Given the description of an element on the screen output the (x, y) to click on. 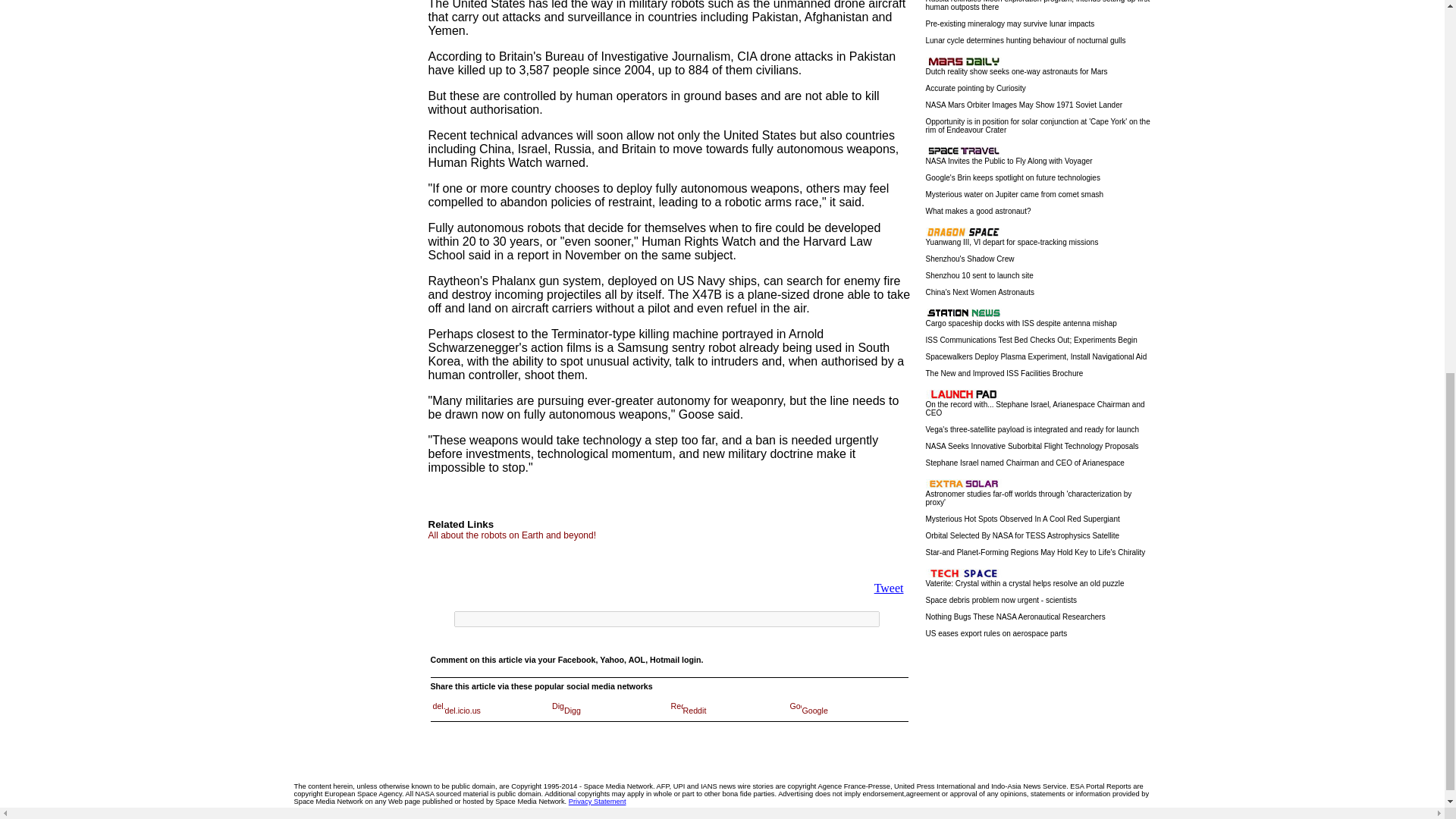
Google (808, 709)
Digg (565, 709)
Dutch reality show seeks one-way astronauts for Mars (1015, 75)
Pre-existing mineralogy may survive lunar impacts (1009, 27)
All about the robots on Earth and beyond! (511, 534)
NASA Mars Orbiter Images May Show 1971 Soviet Lander (1023, 108)
Lunar cycle determines hunting behaviour of nocturnal gulls (1024, 44)
Mysterious water on Jupiter came from comet smash (1013, 198)
Tweet (889, 587)
del.icio.us (456, 709)
Advertisement (605, 559)
Yuanwang III, VI depart for space-tracking missions (1010, 246)
NASA Invites the Public to Fly Along with Voyager (1008, 165)
